Given the description of an element on the screen output the (x, y) to click on. 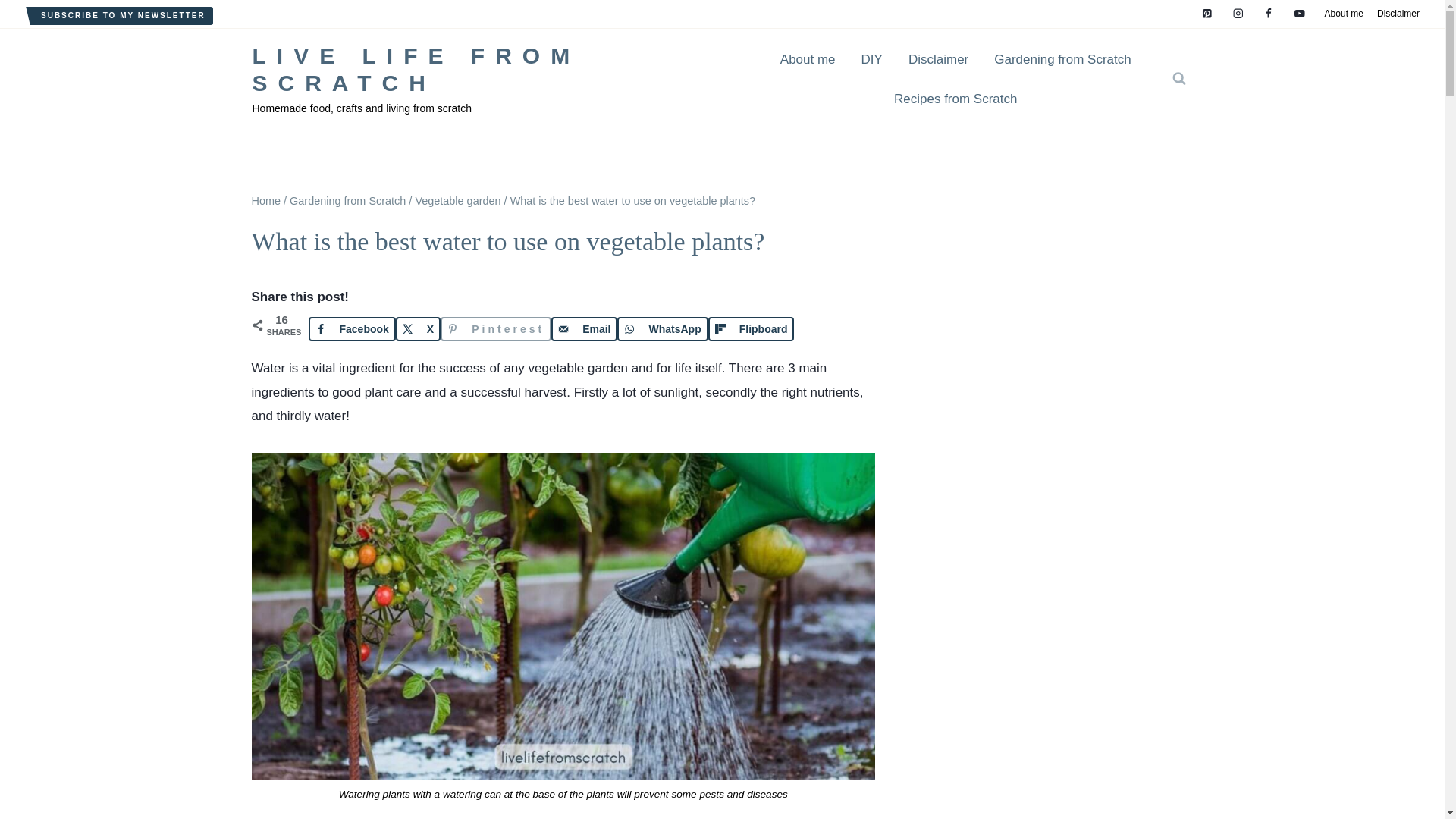
Gardening from Scratch (347, 200)
Email (584, 328)
Share on Facebook (350, 328)
Share on WhatsApp (662, 328)
Disclaimer (938, 59)
Home (266, 200)
Save to Pinterest (496, 328)
Send over email (584, 328)
Flipboard (750, 328)
Facebook (350, 328)
Share on X (418, 328)
Recipes from Scratch (955, 97)
DIY (871, 59)
About me (1343, 13)
WhatsApp (662, 328)
